Given the description of an element on the screen output the (x, y) to click on. 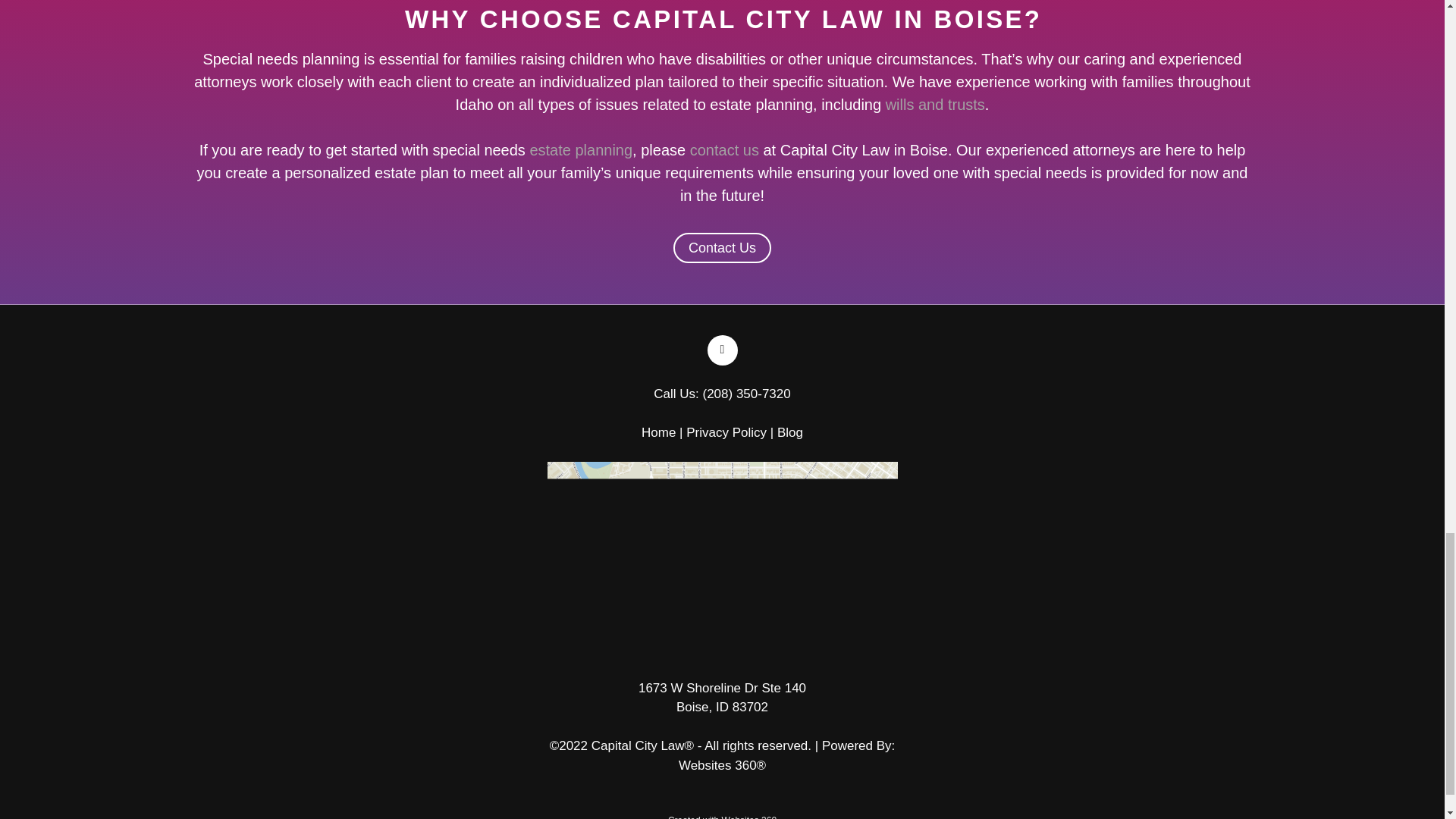
contact us (724, 149)
estate planning (580, 149)
wills and trusts (935, 104)
Contact Us (721, 247)
Home (660, 432)
